Given the description of an element on the screen output the (x, y) to click on. 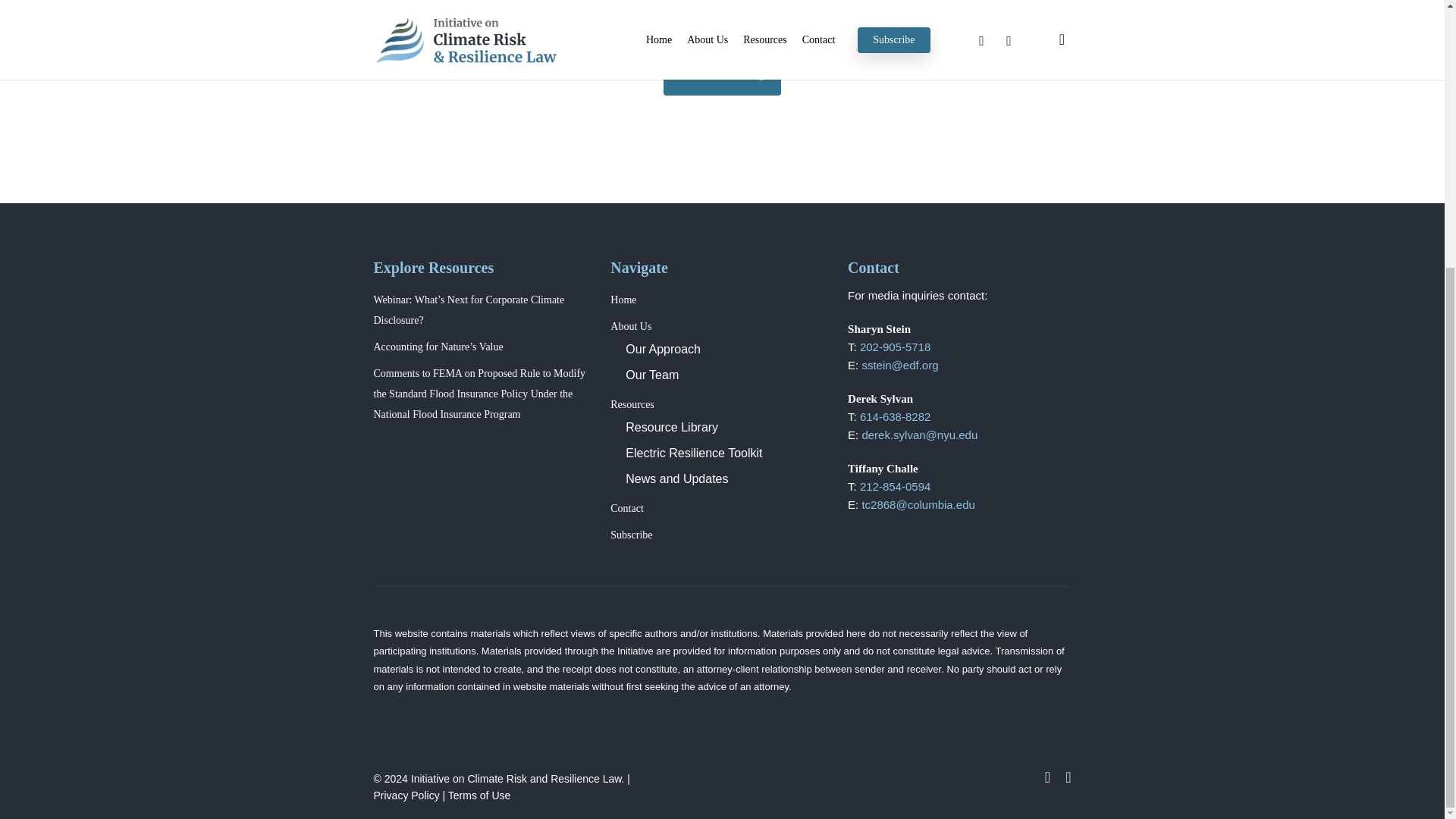
Contact (626, 508)
202-905-5718 (895, 346)
Resource Library (671, 427)
Home (623, 299)
Back Home (721, 76)
Subscribe (631, 534)
About Us (630, 326)
News and Updates (677, 478)
614-638-8282 (895, 416)
Our Team (652, 374)
Electric Resilience Toolkit (693, 452)
Our Approach (663, 349)
Resources (631, 404)
Privacy Policy (405, 795)
